Given the description of an element on the screen output the (x, y) to click on. 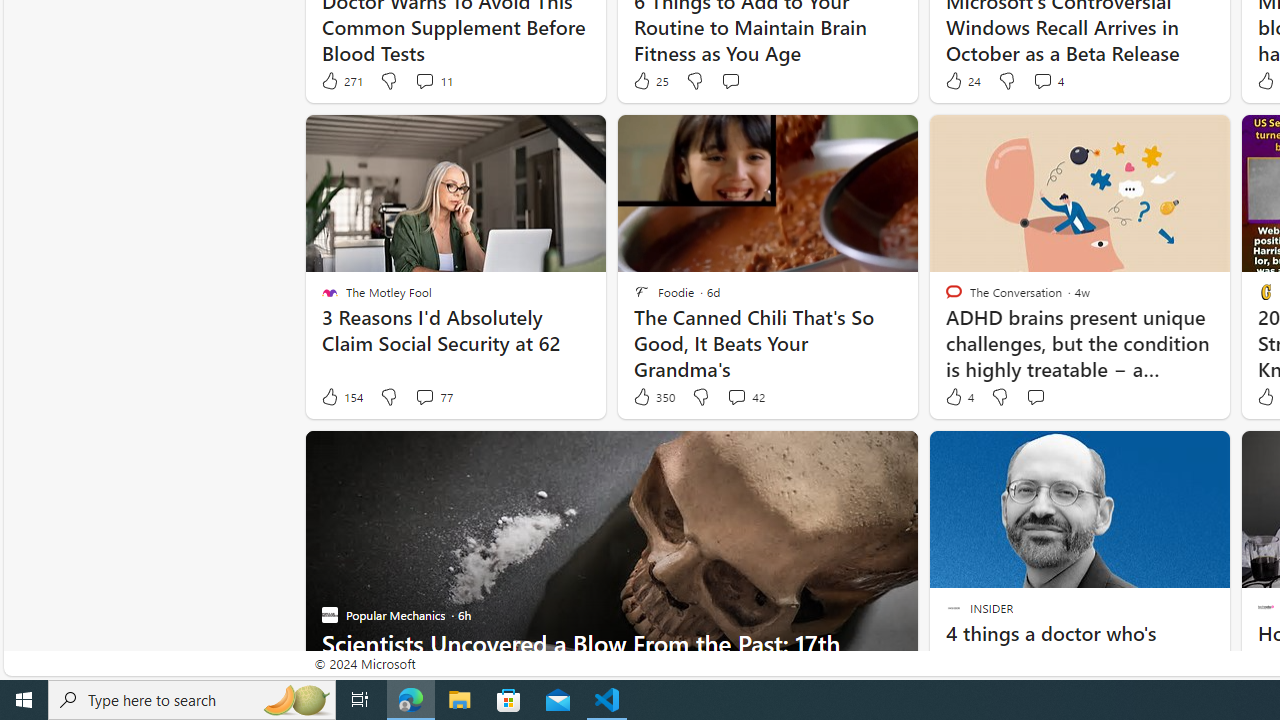
View comments 77 Comment (432, 397)
25 Like (650, 80)
350 Like (653, 397)
154 Like (341, 397)
View comments 42 Comment (745, 397)
Hide this story (1169, 454)
View comments 11 Comment (432, 80)
View comments 77 Comment (424, 396)
24 Like (961, 80)
271 Like (341, 80)
